Given the description of an element on the screen output the (x, y) to click on. 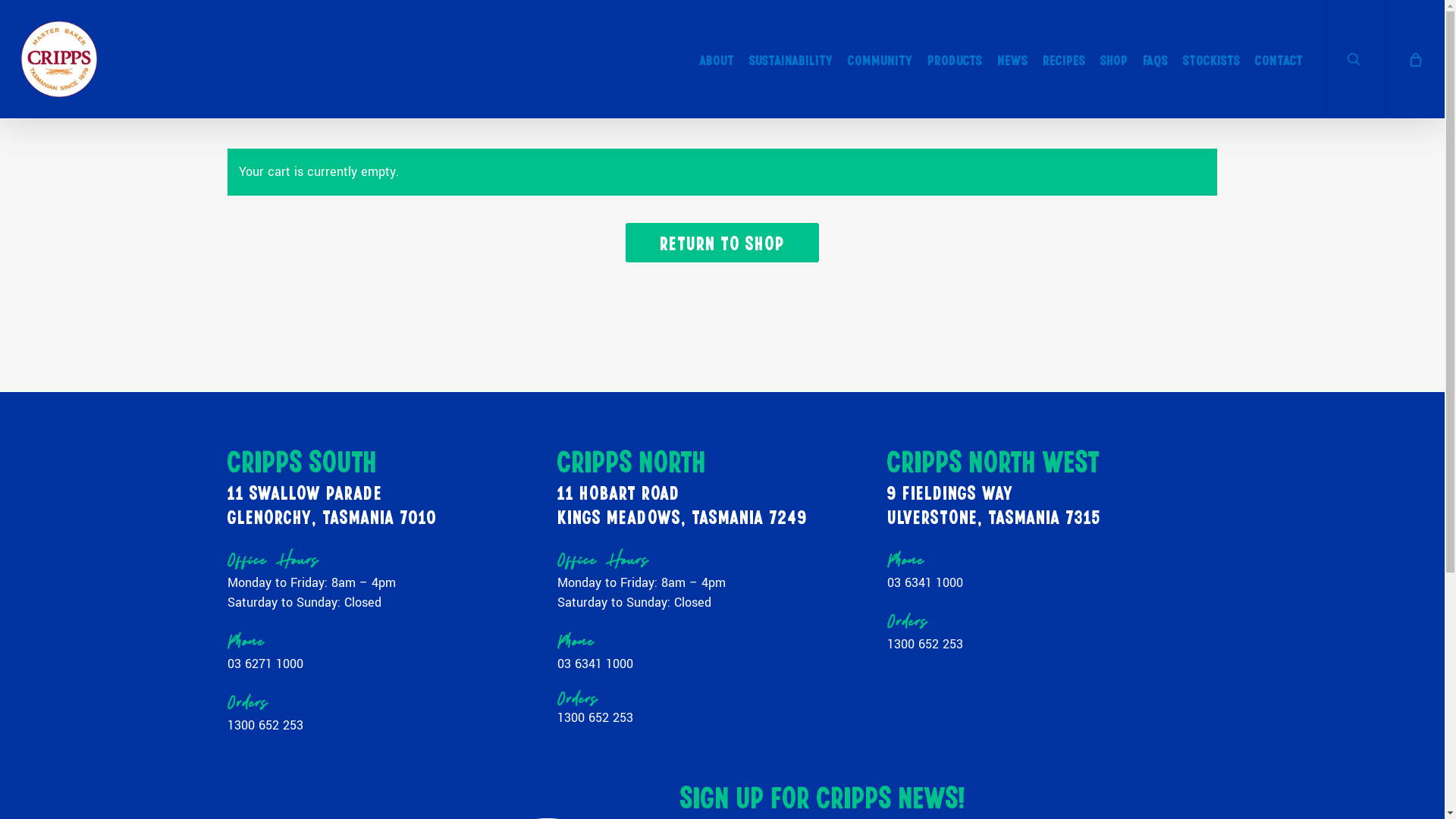
Community Element type: text (879, 58)
Return To Shop Element type: text (722, 242)
search Element type: text (1355, 59)
Sustainability Element type: text (790, 58)
News Element type: text (1012, 58)
About Element type: text (716, 58)
FAQs Element type: text (1155, 58)
Recipes Element type: text (1063, 58)
Shop Element type: text (1113, 58)
Contact Element type: text (1278, 58)
Products Element type: text (954, 58)
Stockists Element type: text (1211, 58)
